Given the description of an element on the screen output the (x, y) to click on. 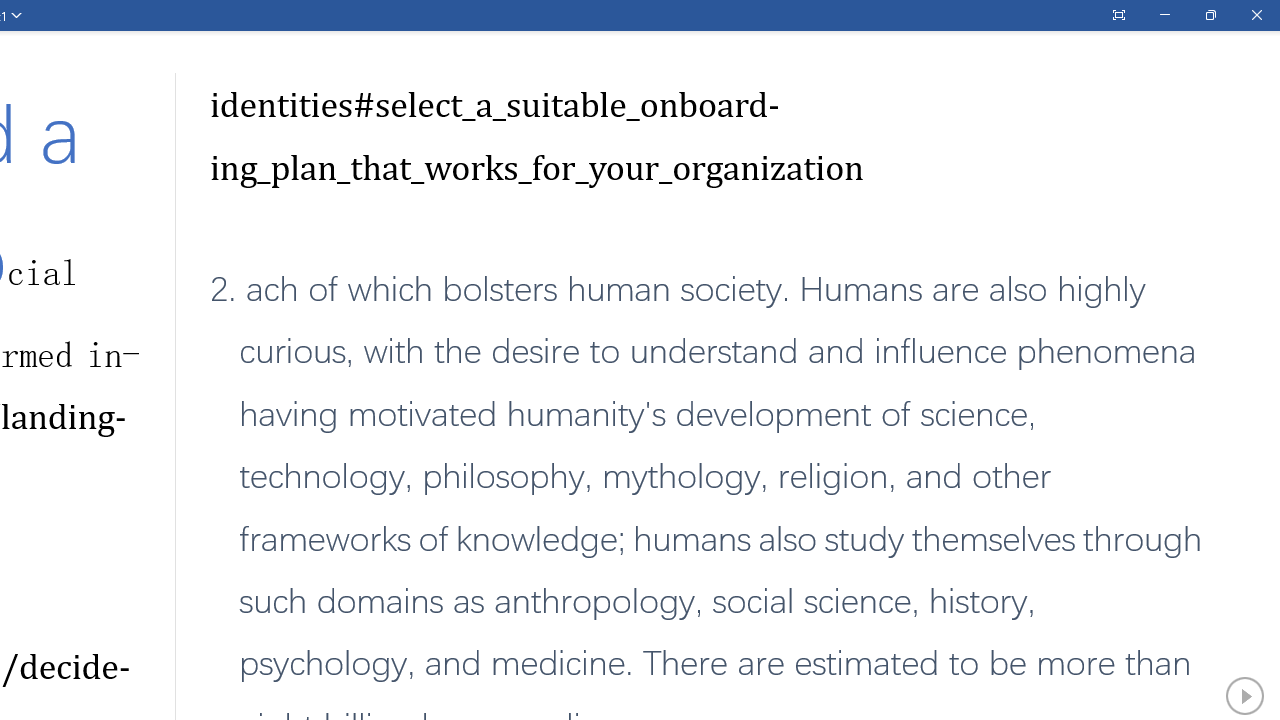
Morphological variation in six dogs (320, 540)
Auto-hide Reading Toolbar (1118, 15)
